Given the description of an element on the screen output the (x, y) to click on. 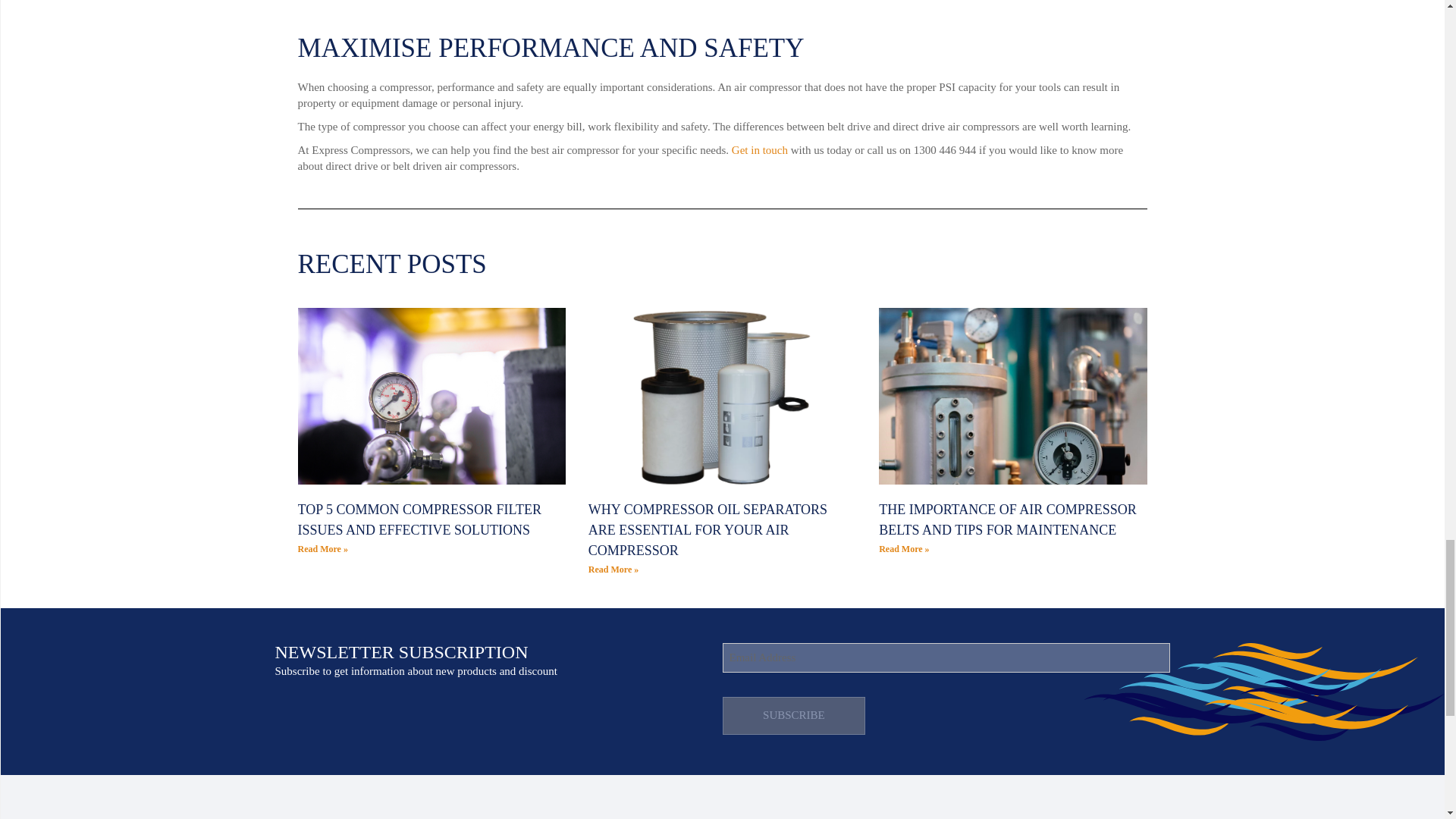
Subscribe (793, 715)
